Given the description of an element on the screen output the (x, y) to click on. 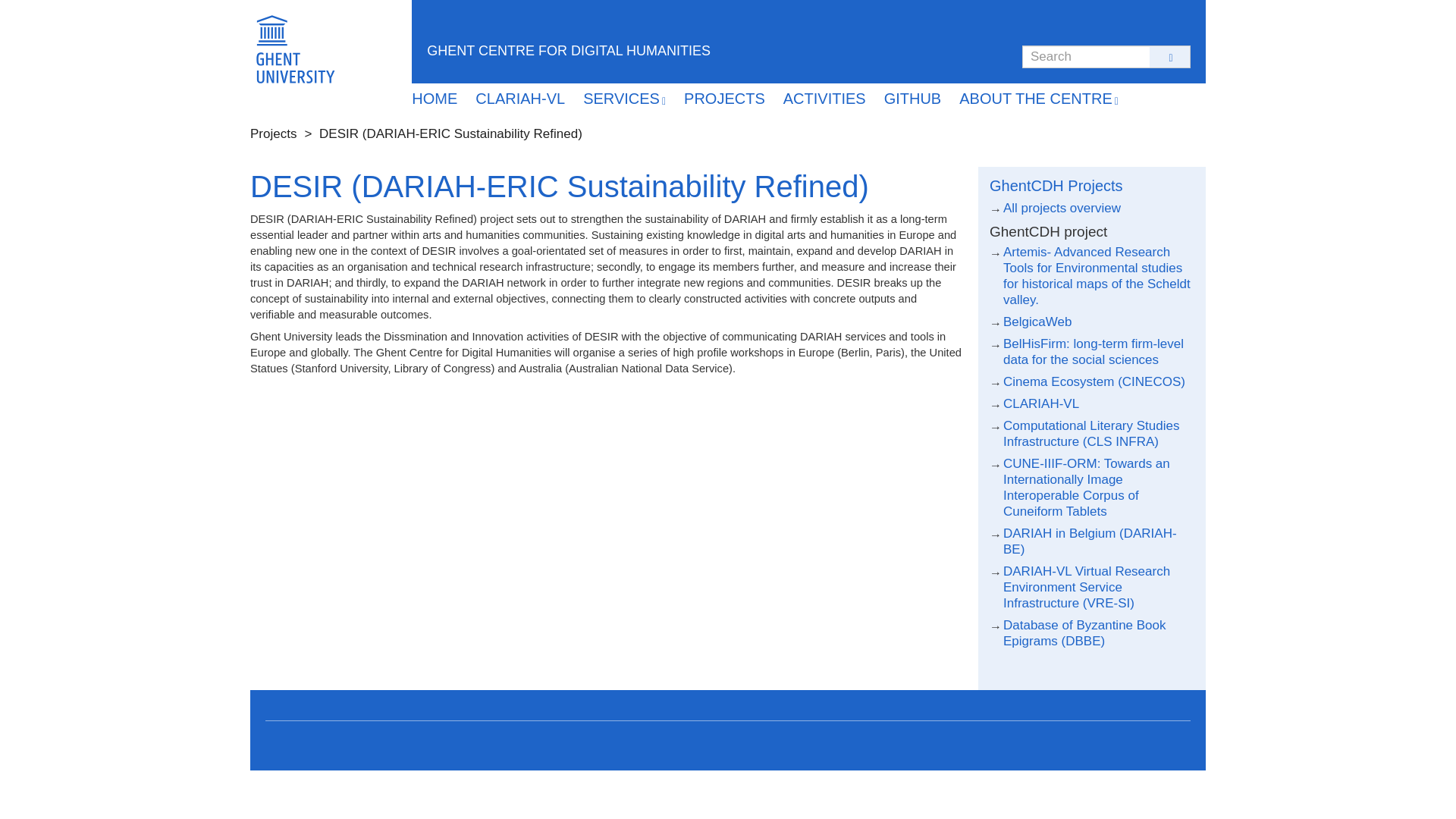
Search (1042, 68)
CLARIAH-VL (520, 98)
PROJECTS (724, 98)
ACTIVITIES (824, 98)
CLARIAH-VL (1040, 403)
All projects overview (1062, 208)
GITHUB (912, 98)
Projects (273, 133)
GHENT CENTRE FOR DIGITAL HUMANITIES (561, 50)
